Given the description of an element on the screen output the (x, y) to click on. 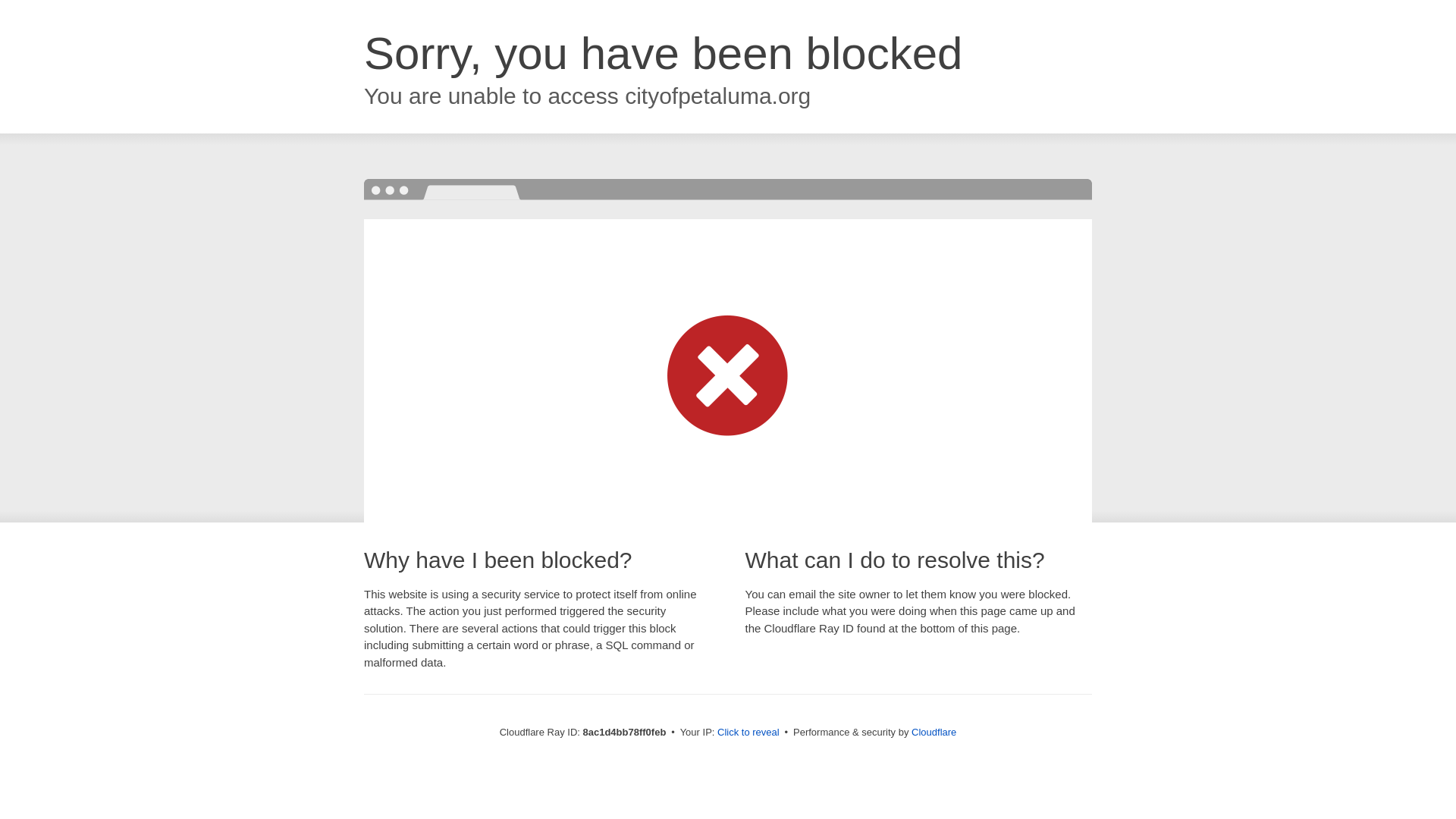
Click to reveal (747, 732)
Cloudflare (933, 731)
